Given the description of an element on the screen output the (x, y) to click on. 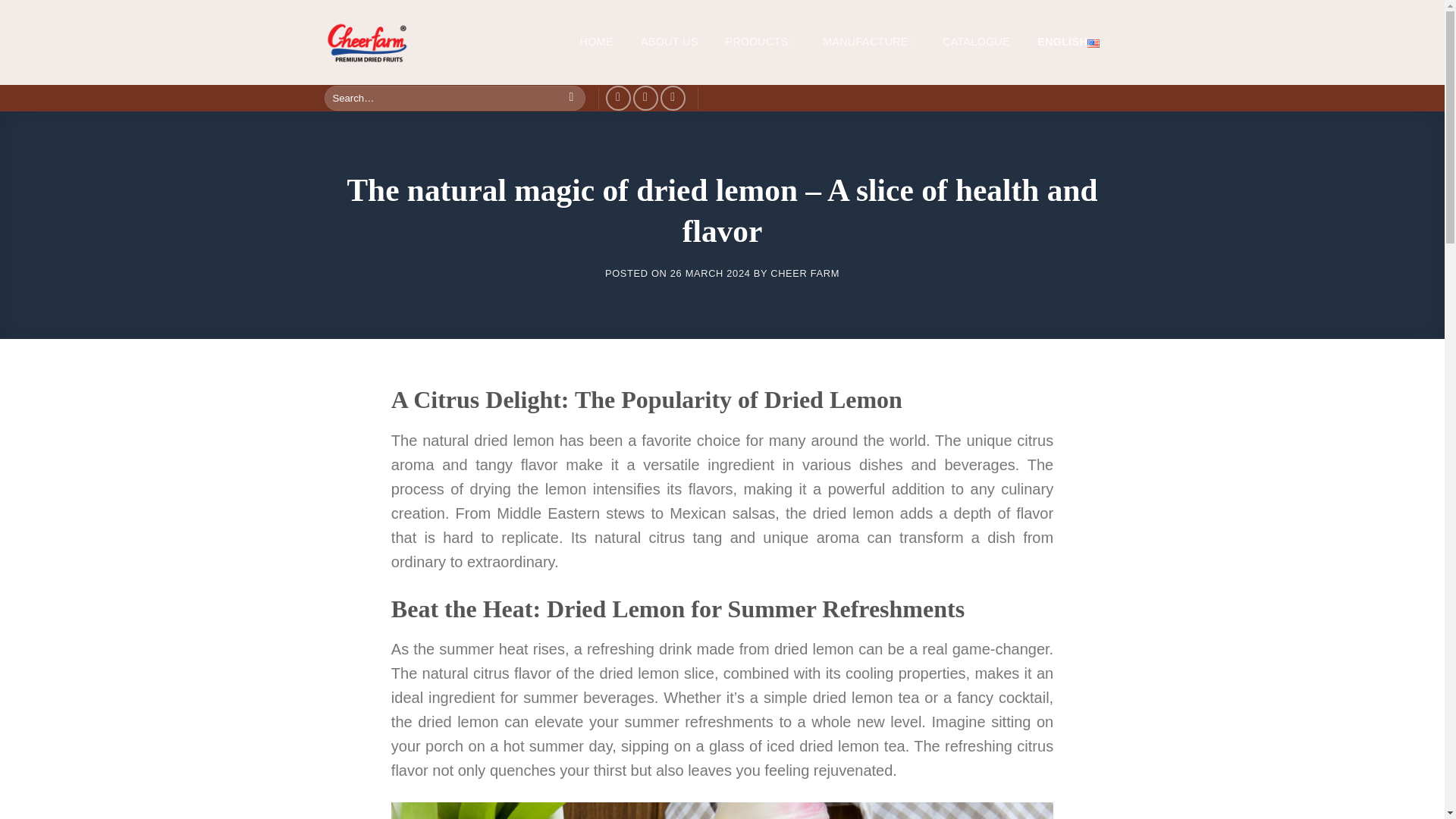
ENGLISH (1071, 41)
HOME (596, 41)
Follow on LinkedIn (645, 97)
Follow on YouTube (673, 97)
CATALOGUE (975, 41)
PRODUCTS (760, 41)
Follow on Facebook (617, 97)
MANUFACTURE (868, 41)
ABOUT US (669, 41)
Cheer Farm (383, 42)
